Given the description of an element on the screen output the (x, y) to click on. 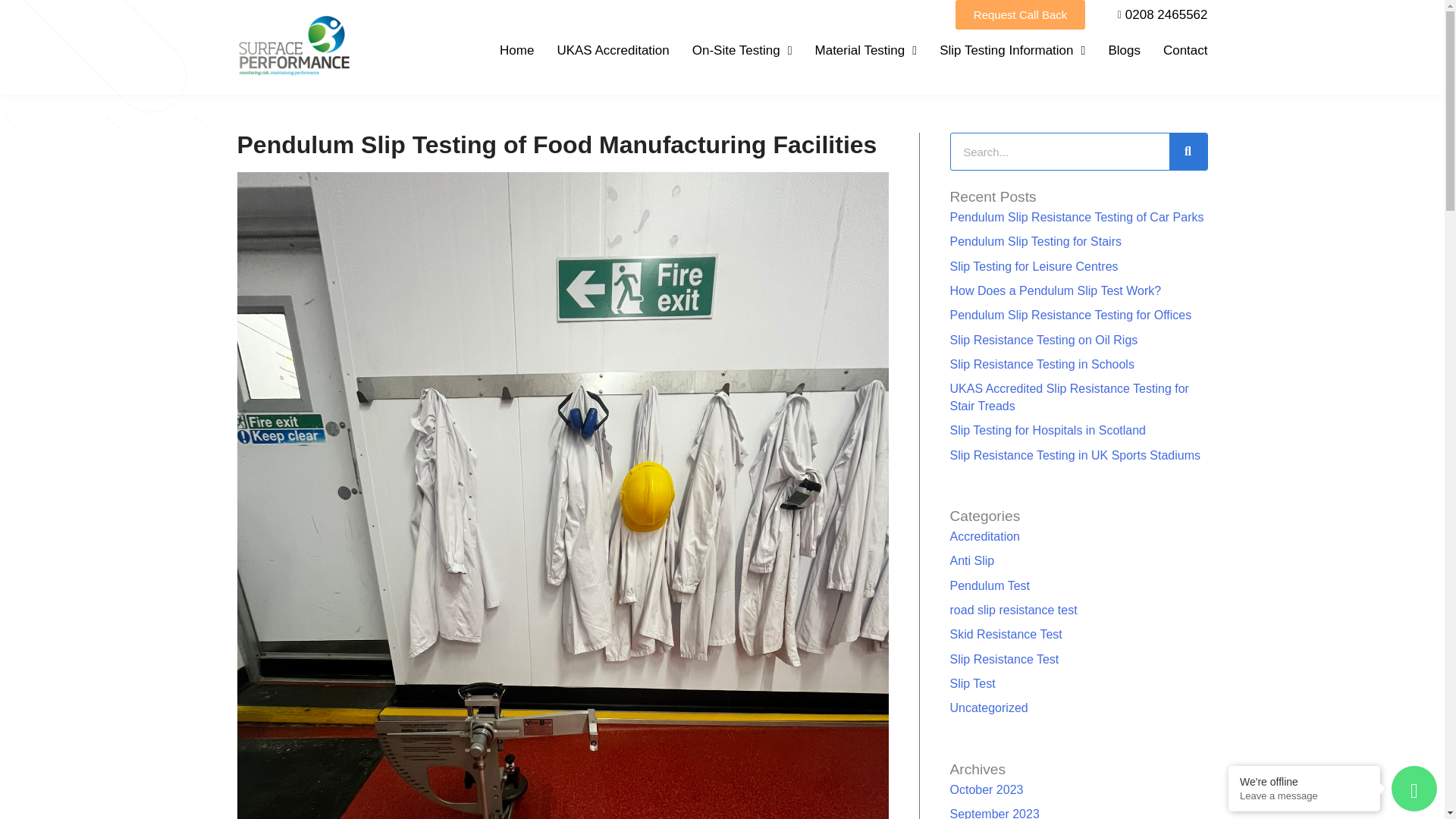
Blogs (1124, 50)
0208 2465562 (1157, 15)
Contact (1185, 50)
Leave a message (1304, 795)
On-Site Testing (742, 50)
UKAS Accreditation (612, 50)
We're offline (1304, 781)
Home (516, 50)
Search (1059, 151)
Search (1188, 151)
Request Call Back (1019, 14)
Material Testing (866, 50)
Slip Testing Information (1011, 50)
